Given the description of an element on the screen output the (x, y) to click on. 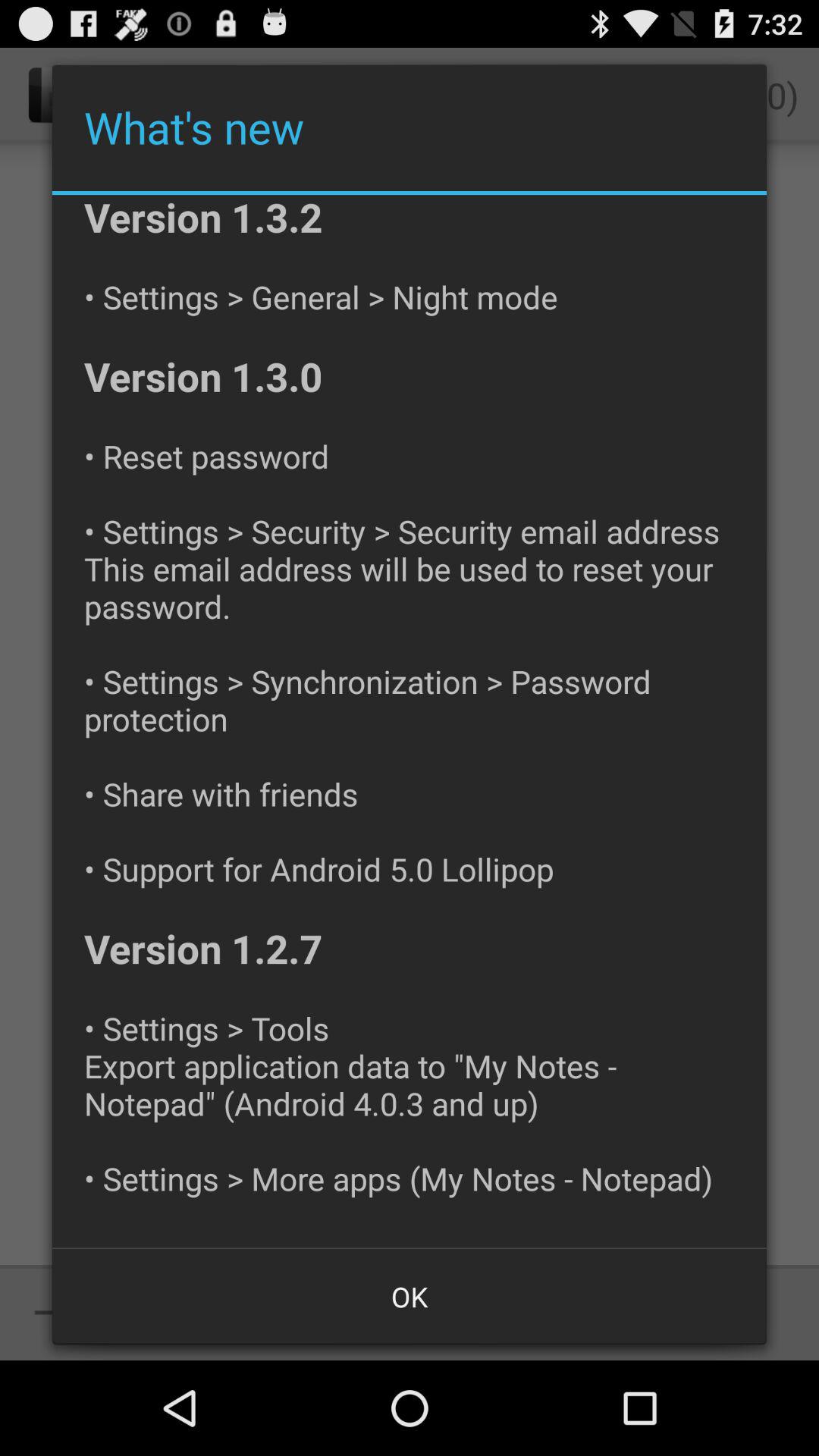
jump to ok (409, 1296)
